Given the description of an element on the screen output the (x, y) to click on. 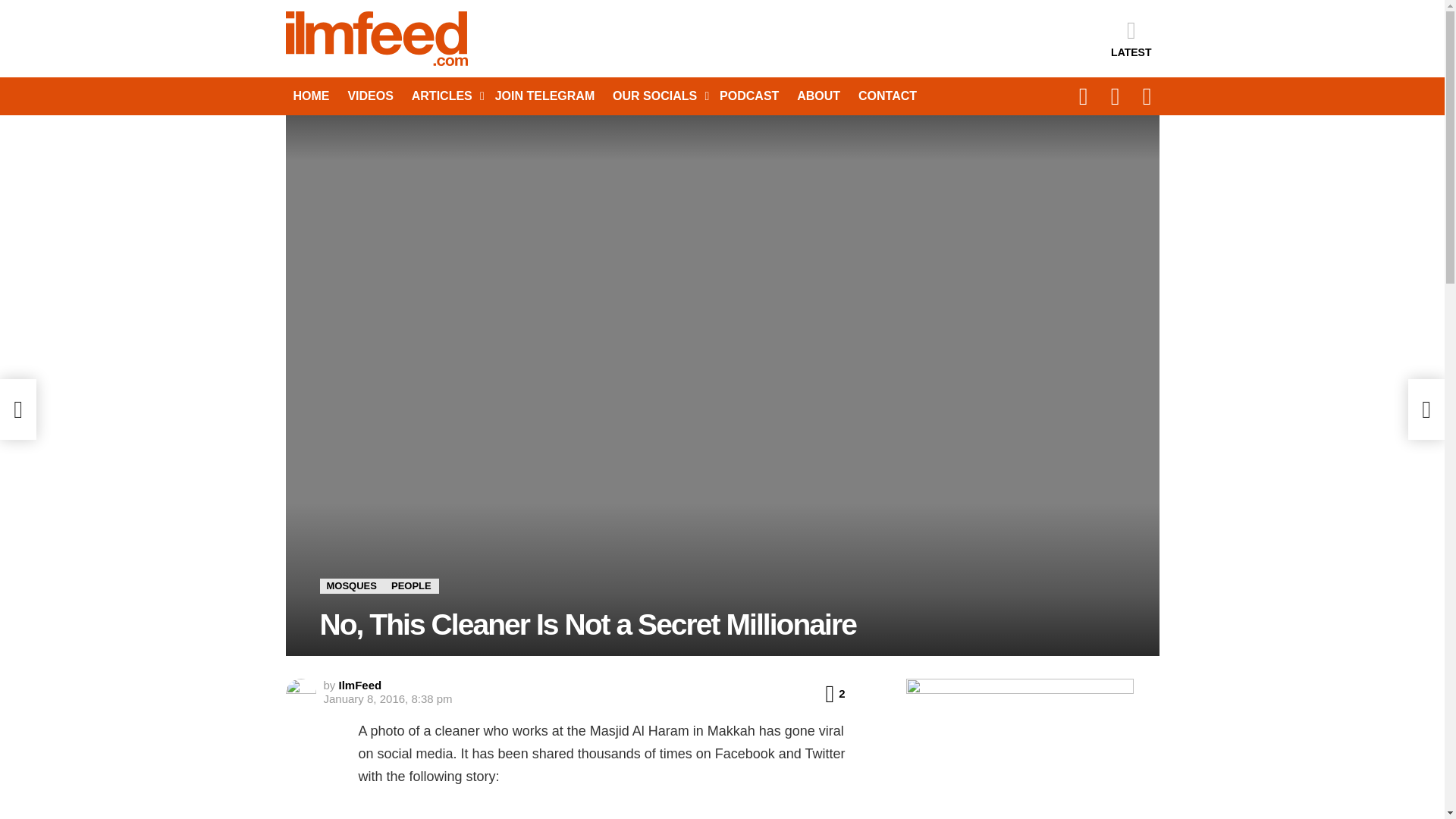
ABOUT (818, 96)
JOIN TELEGRAM (544, 96)
CONTACT (887, 96)
More (444, 96)
HOME (310, 96)
ARTICLES (444, 96)
LATEST (1130, 38)
PODCAST (748, 96)
OUR SOCIALS (657, 96)
VIDEOS (369, 96)
